Given the description of an element on the screen output the (x, y) to click on. 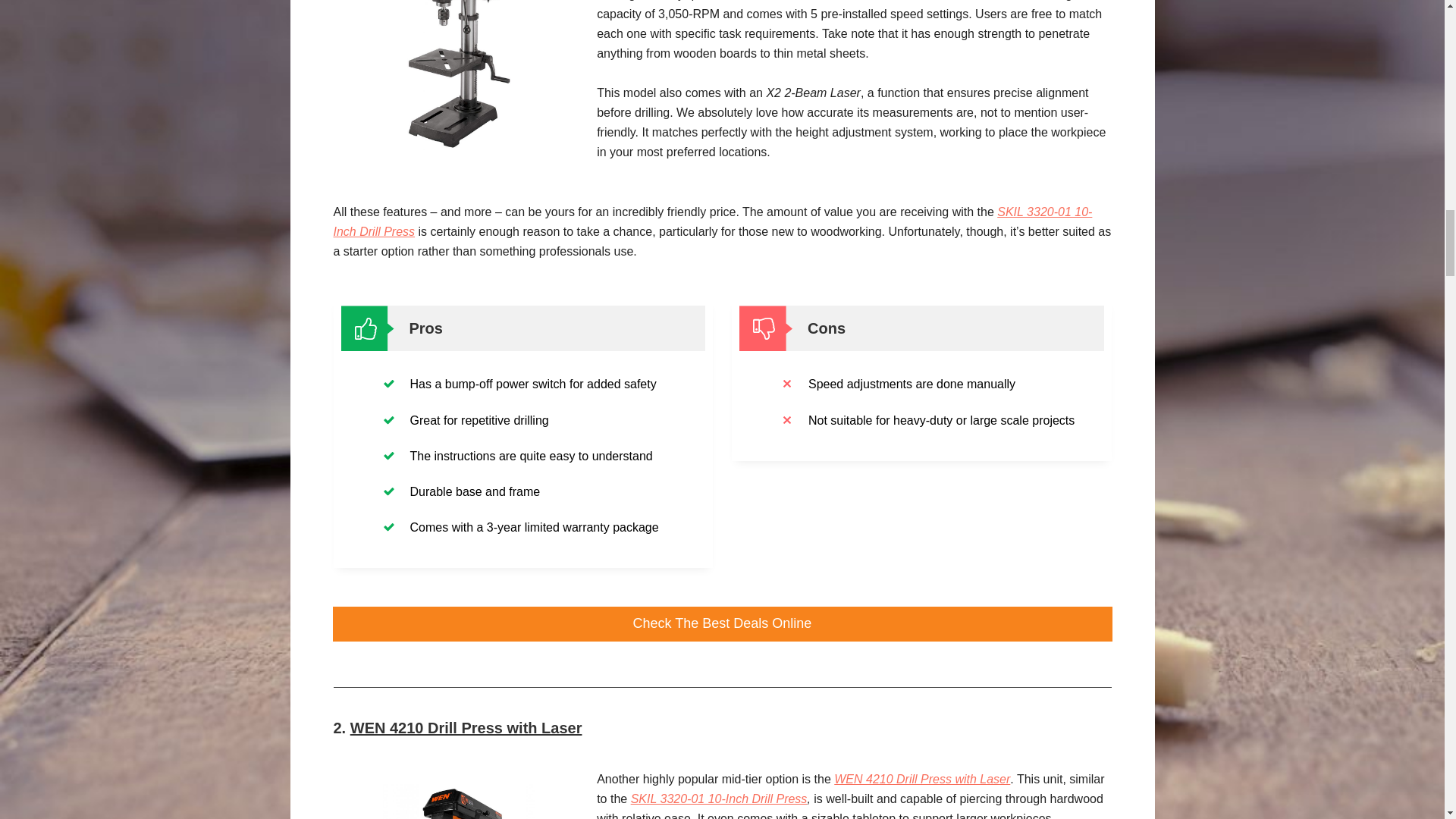
WEN 4210 Drill Press with Laser (458, 801)
